Given the description of an element on the screen output the (x, y) to click on. 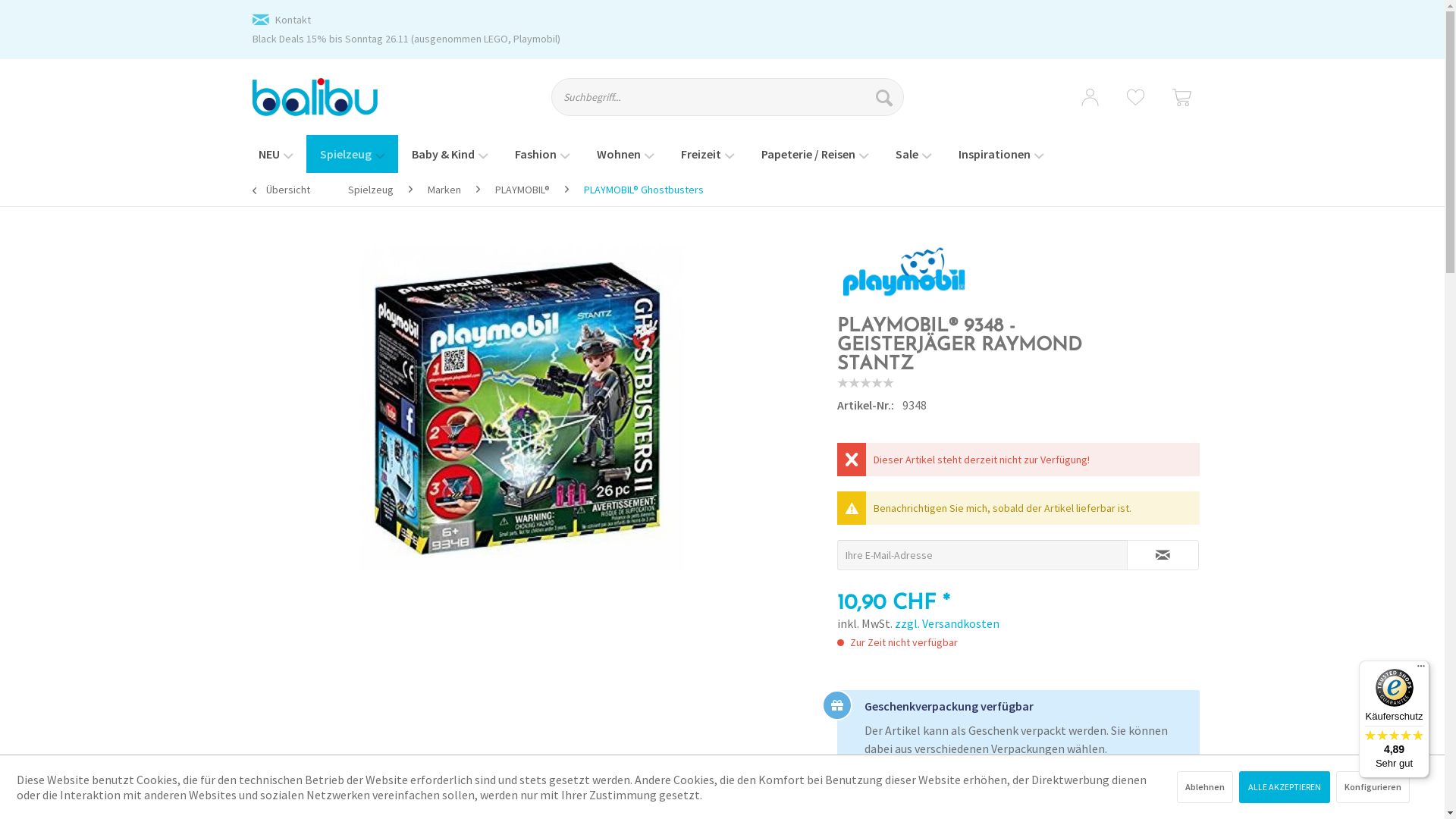
NEU Element type: text (274, 153)
Sale Element type: text (912, 153)
Ablehnen Element type: text (1204, 787)
Warenkorb Element type: hover (1181, 97)
Marken Element type: text (444, 189)
ALLE AKZEPTIEREN Element type: text (1284, 787)
Balibu Onlineshop - zur Startseite wechseln Element type: hover (314, 97)
Wunschlisten Element type: hover (1135, 97)
Anmelden / Registrieren Element type: hover (1089, 97)
Inspirationen Element type: text (1000, 153)
zzgl. Versandkosten Element type: text (946, 622)
Spielzeug Element type: text (352, 153)
Kontakt Element type: text (292, 19)
Weitere Artikel von Playmobil Element type: hover (903, 271)
Konfigurieren Element type: text (1372, 787)
Wohnen Element type: text (624, 153)
Baby & Kind Element type: text (448, 153)
Freizeit Element type: text (707, 153)
Fashion Element type: text (541, 153)
Spielzeug Element type: text (369, 189)
Papeterie / Reisen Element type: text (814, 153)
